Given the description of an element on the screen output the (x, y) to click on. 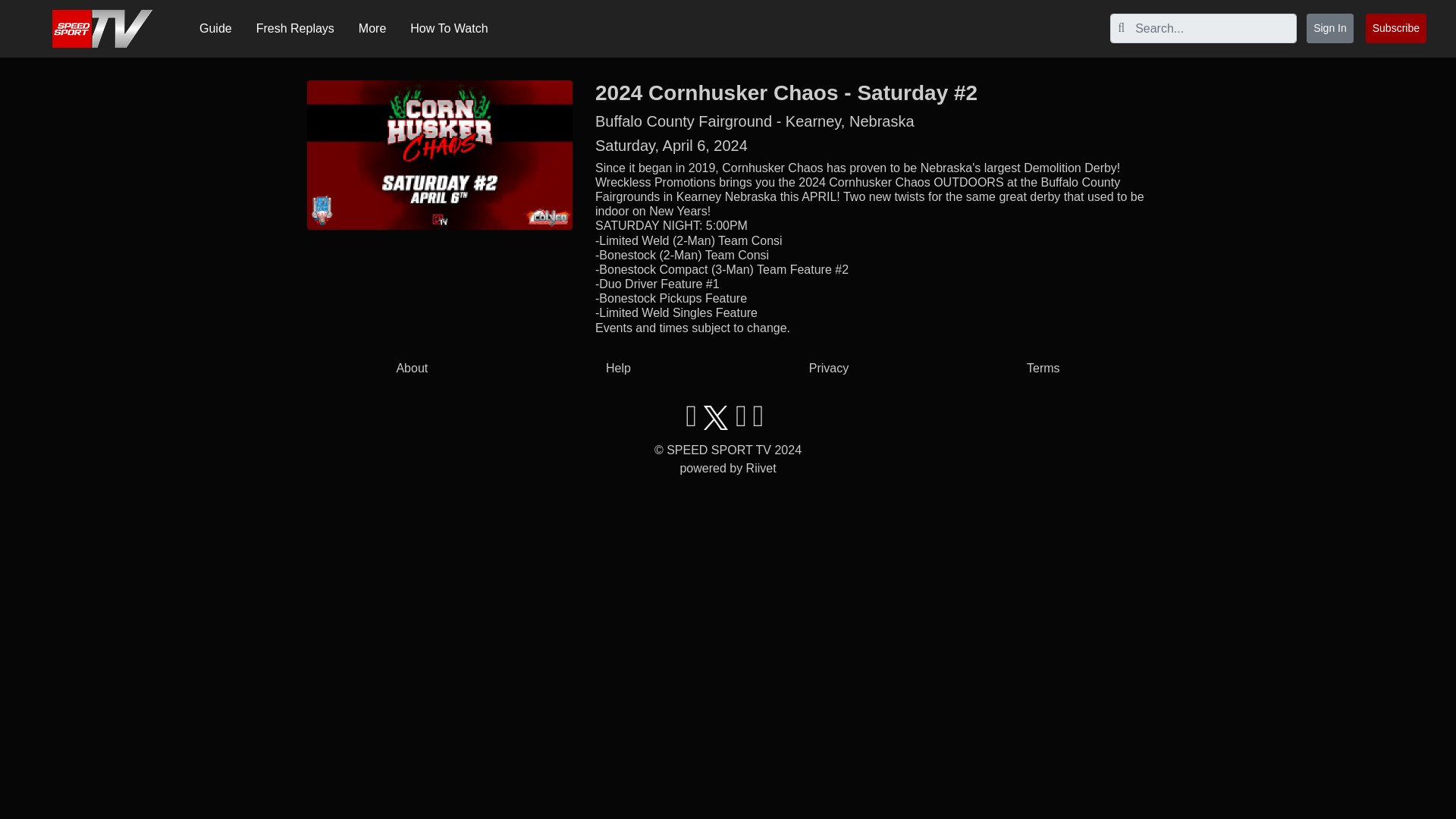
More (371, 28)
Fresh Replays (295, 28)
Subscribe (1395, 28)
Charge (25, 11)
Guide (215, 28)
How To Watch (448, 28)
Sign In (1330, 28)
Buffalo County Fairground - Kearney, Nebraska (754, 121)
